Given the description of an element on the screen output the (x, y) to click on. 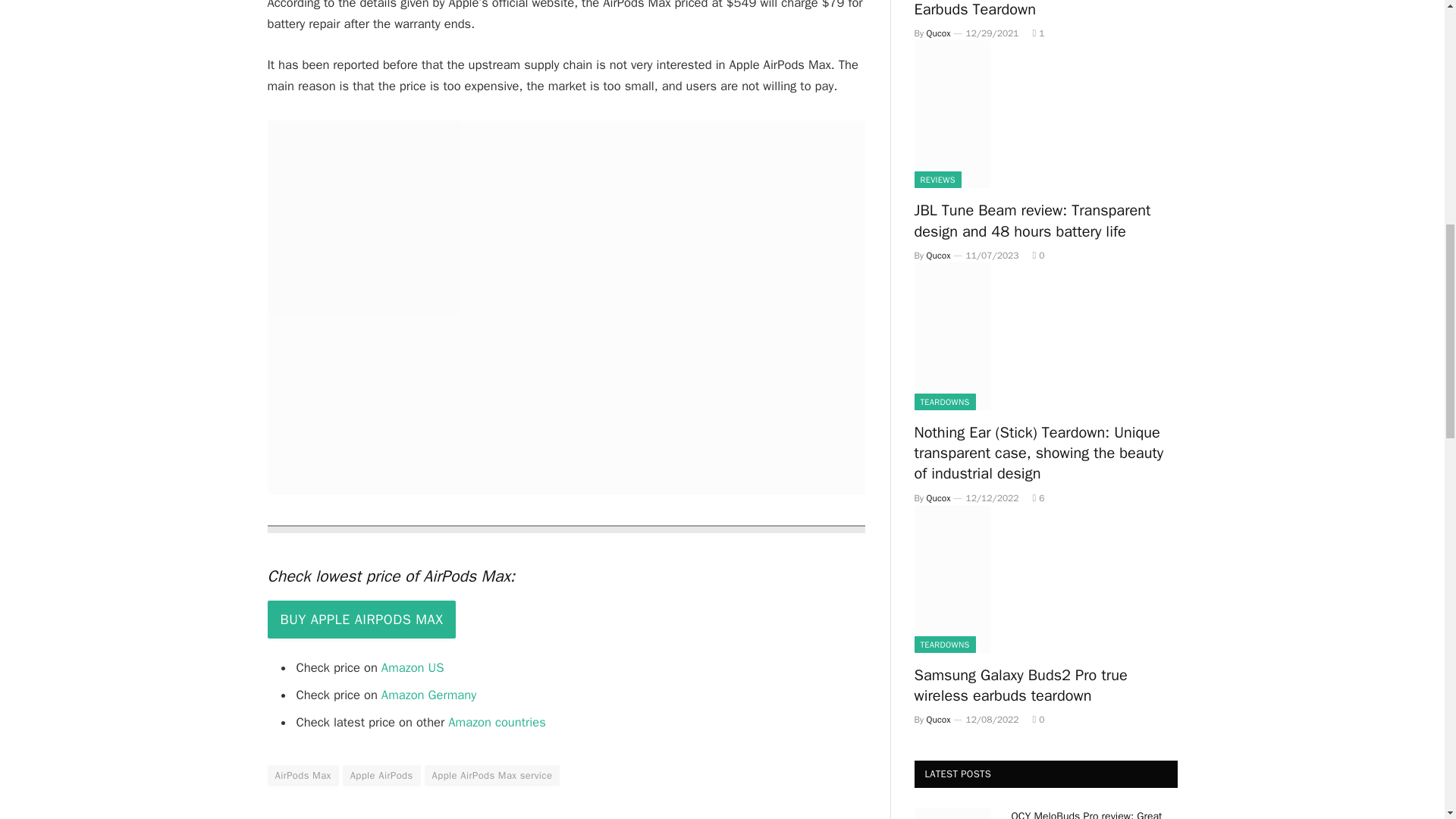
Buy Apple AirPods Max (360, 619)
